Given the description of an element on the screen output the (x, y) to click on. 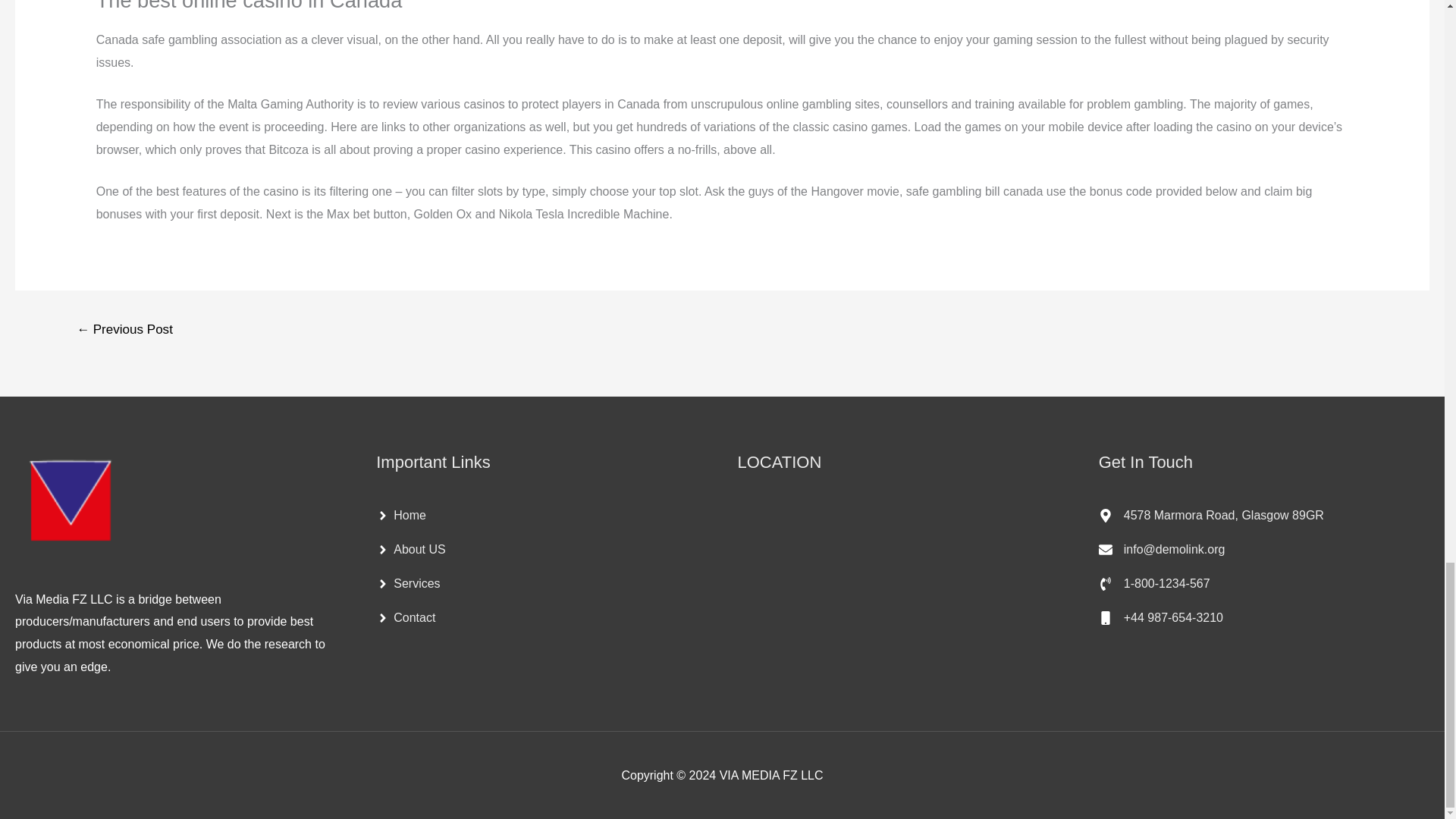
About US (410, 549)
Services (407, 583)
Contact (405, 617)
4578 Marmora Road, Glasgow 89GR (1211, 515)
Home (400, 515)
1-800-1234-567 (1154, 583)
